Given the description of an element on the screen output the (x, y) to click on. 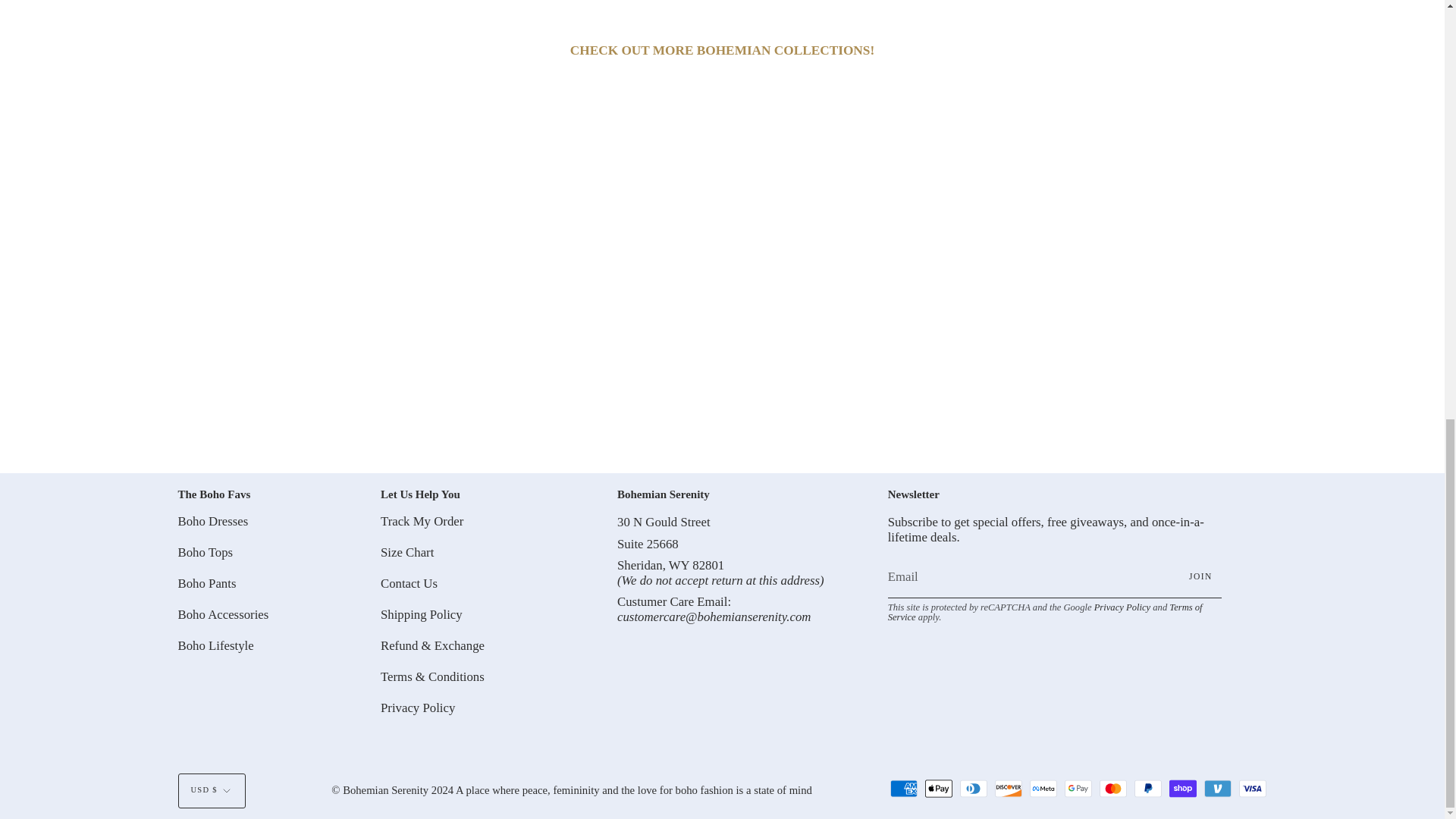
Visa (1252, 788)
Meta Pay (1043, 788)
Discover (1008, 788)
Shop Pay (1182, 788)
Mastercard (1112, 788)
Diners Club (973, 788)
Venmo (1217, 788)
American Express (903, 788)
Apple Pay (938, 788)
PayPal (1147, 788)
Google Pay (1078, 788)
